Given the description of an element on the screen output the (x, y) to click on. 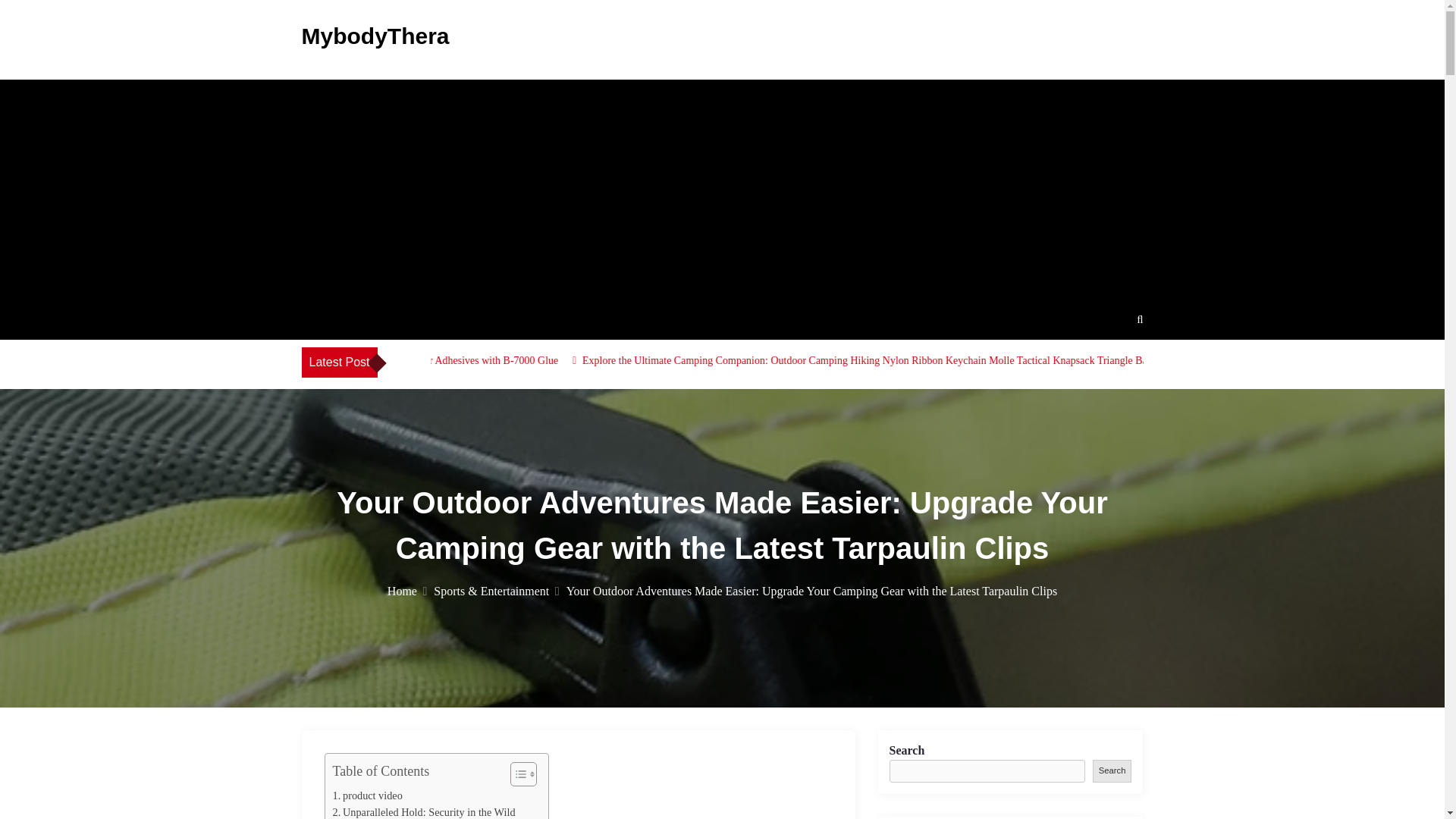
MybodyThera (375, 35)
Unparalleled Hold: Security in the Wild (423, 811)
Unparalleled Hold: Security in the Wild (423, 811)
product video (366, 795)
product video (366, 795)
Home (406, 590)
Delve into the World of Super Adhesives with B-7000 Glue (567, 360)
